Given the description of an element on the screen output the (x, y) to click on. 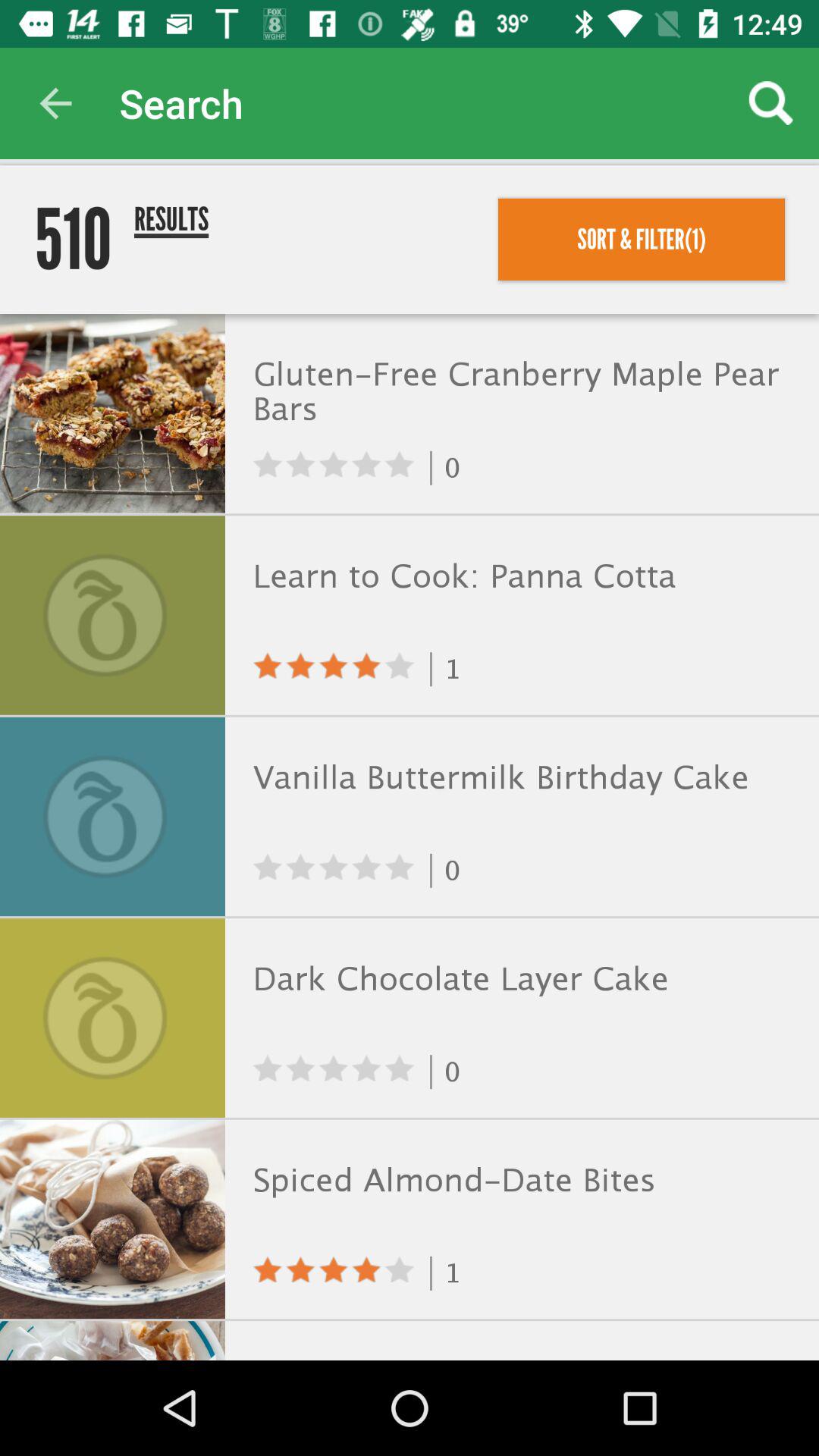
scroll until learn to cook (518, 576)
